Given the description of an element on the screen output the (x, y) to click on. 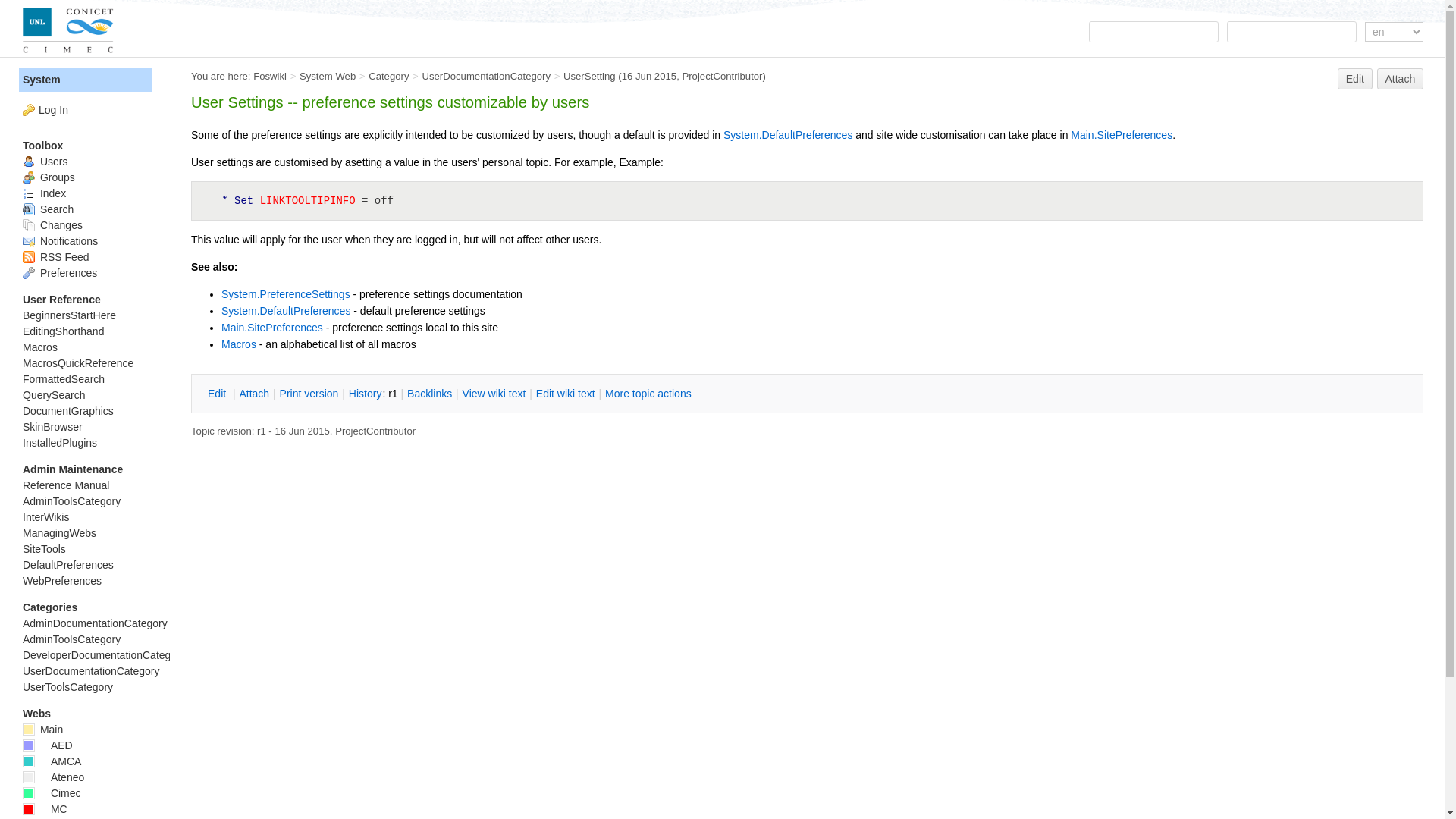
EditingShorthand (63, 330)
Search (1291, 31)
ProjectContributor (374, 430)
Log In (53, 110)
Edit Wiki text (565, 393)
UserSetting (589, 75)
Backlinks (429, 393)
Jump (1153, 31)
Foswiki (269, 75)
Preferences (60, 272)
